Given the description of an element on the screen output the (x, y) to click on. 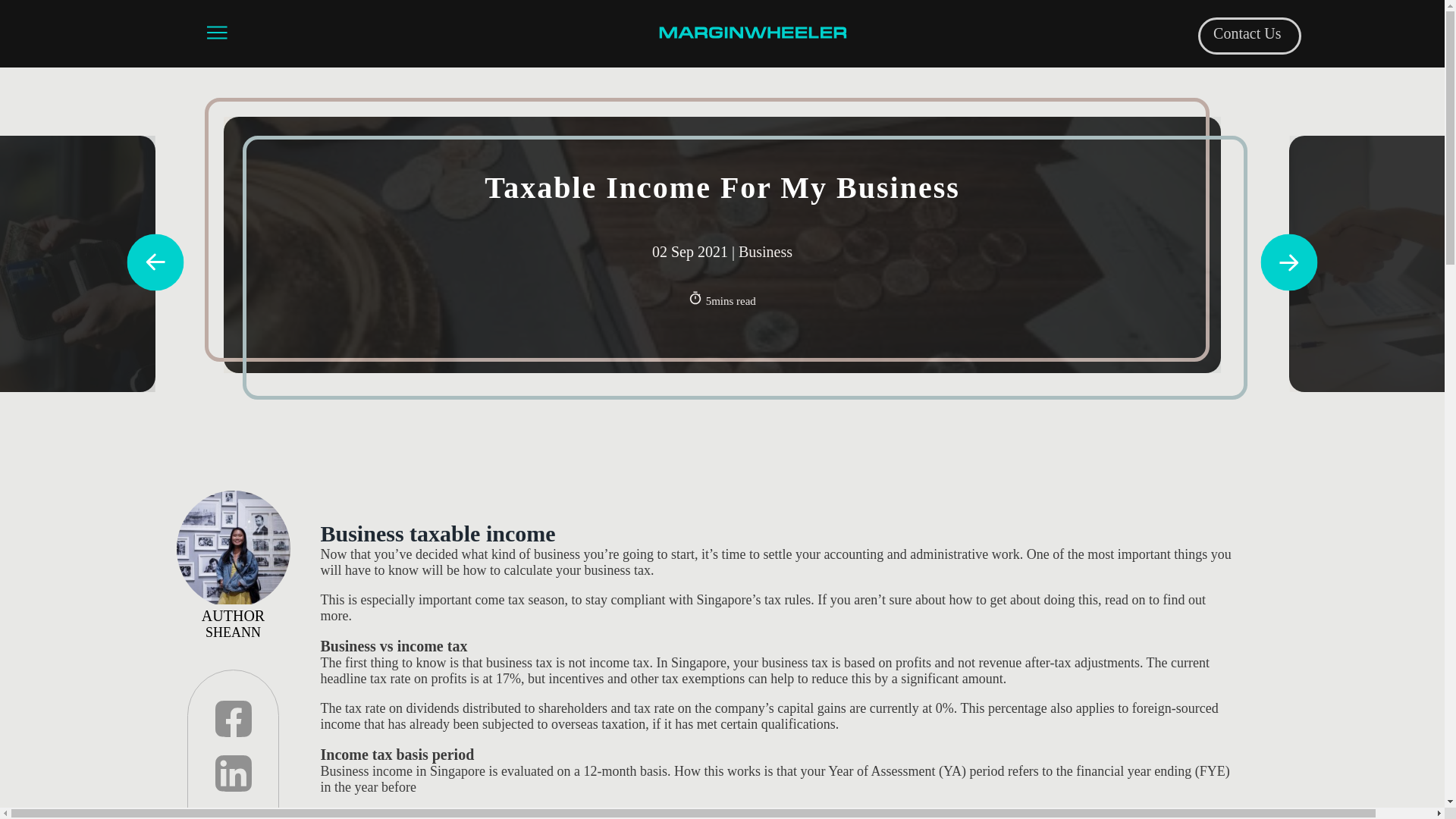
Contact Us (1246, 33)
